Given the description of an element on the screen output the (x, y) to click on. 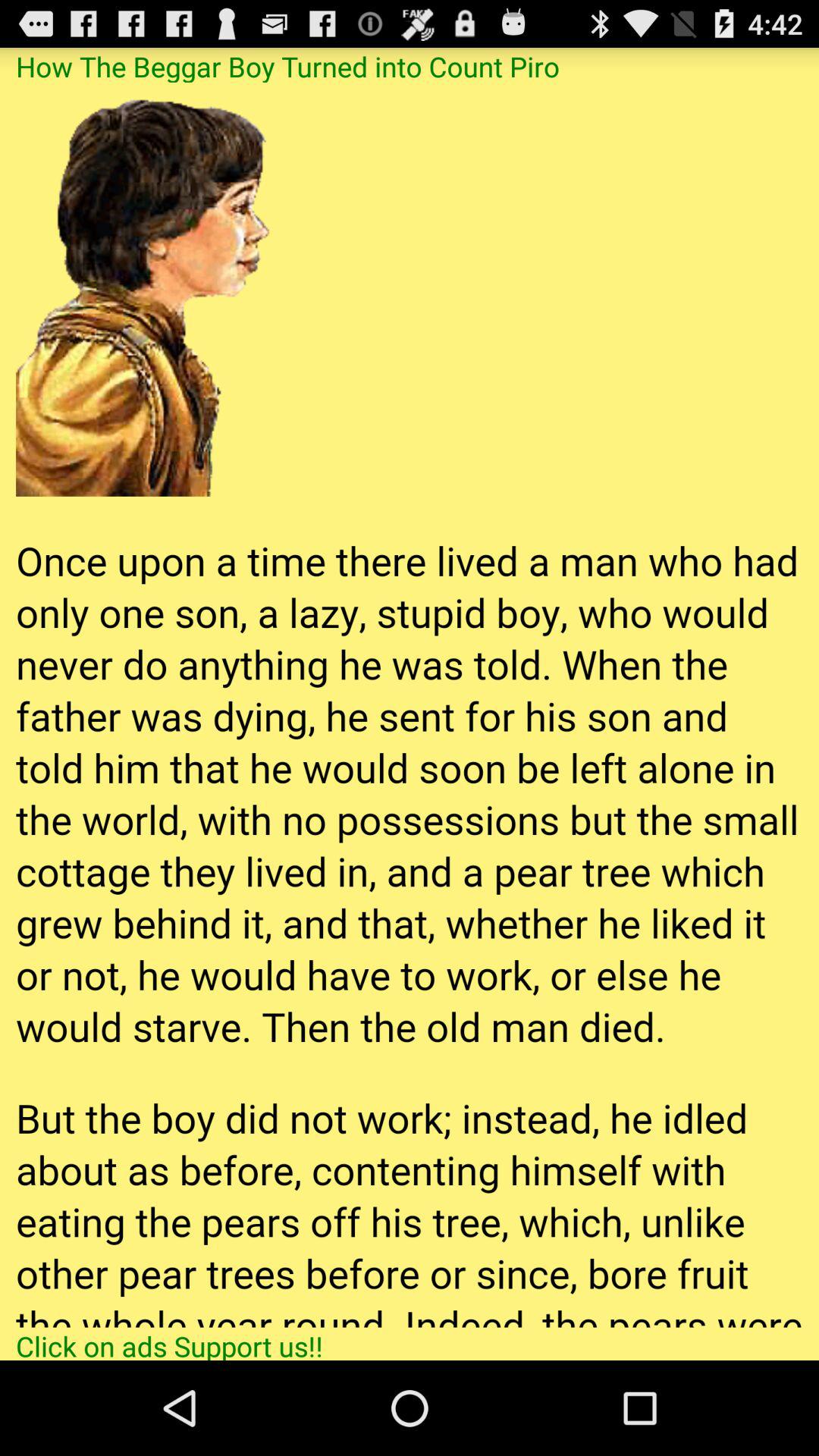
turn on the icon above click on ads icon (409, 704)
